Given the description of an element on the screen output the (x, y) to click on. 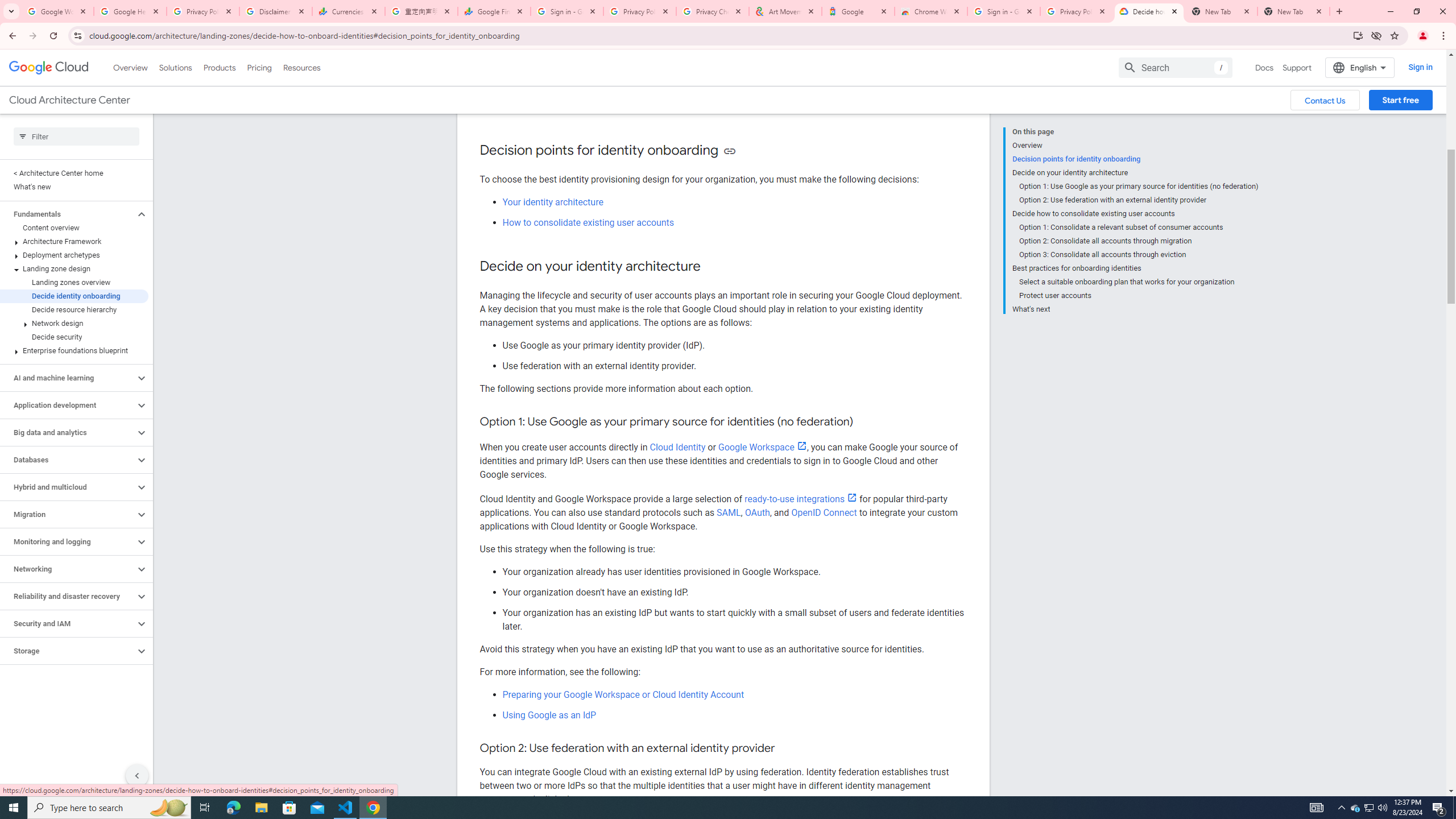
Option 1: Consolidate a relevant subset of consumer accounts (1138, 227)
Google Cloud (48, 67)
Security and IAM (67, 623)
Resources (301, 67)
Google Workspace Admin Community (57, 11)
Option 2: Consolidate all accounts through migration (1138, 241)
Migration (67, 514)
English (1359, 67)
Landing zones overview (74, 282)
Google Workspace (761, 447)
Chrome Web Store - Color themes by Chrome (930, 11)
Fundamentals (67, 214)
Content overview (74, 228)
